Given the description of an element on the screen output the (x, y) to click on. 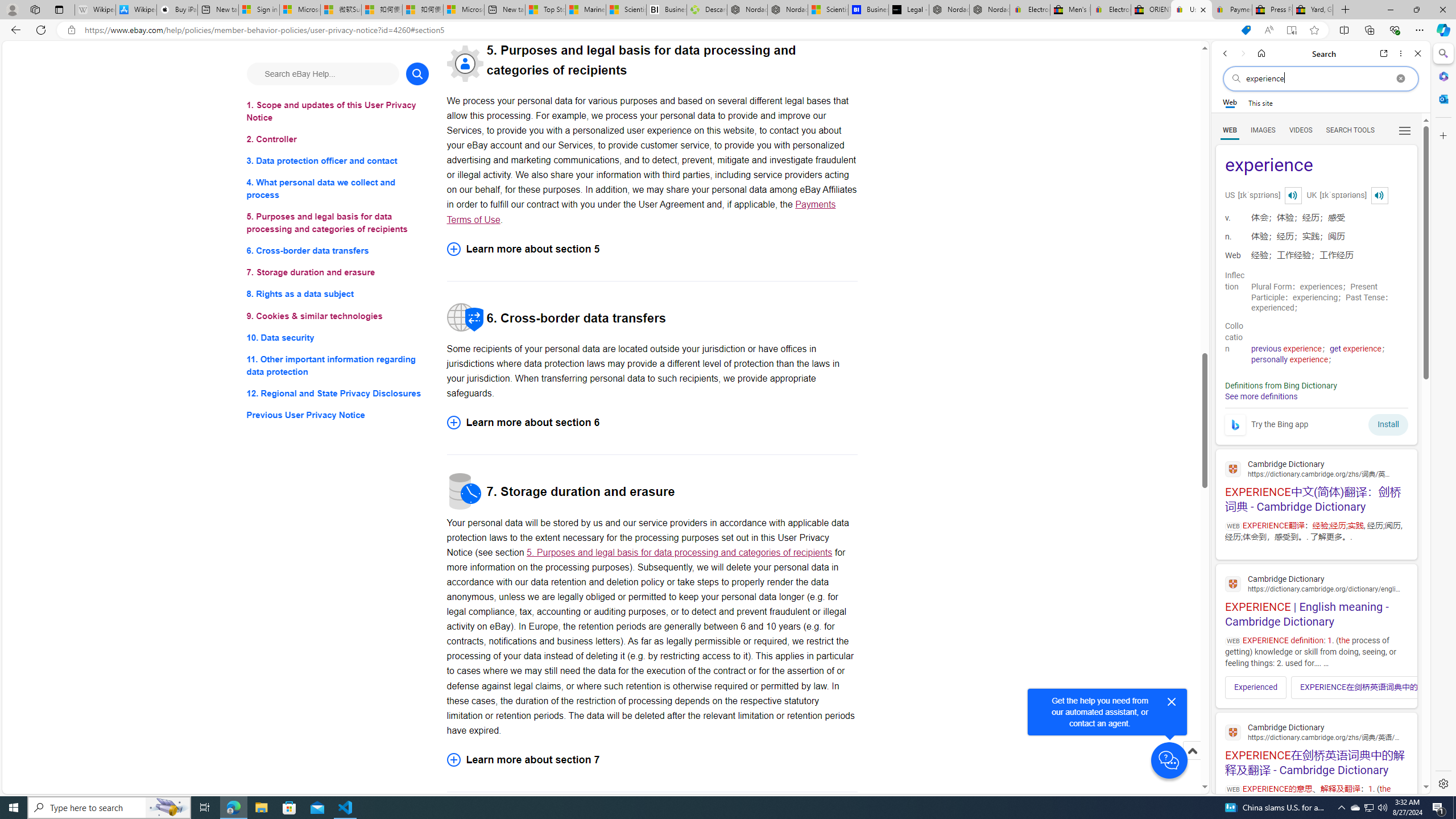
See more definitions (1260, 396)
9. Cookies & similar technologies (337, 315)
4. What personal data we collect and process (337, 189)
Marine life - MSN (585, 9)
Scroll to top (1191, 762)
